Given the description of an element on the screen output the (x, y) to click on. 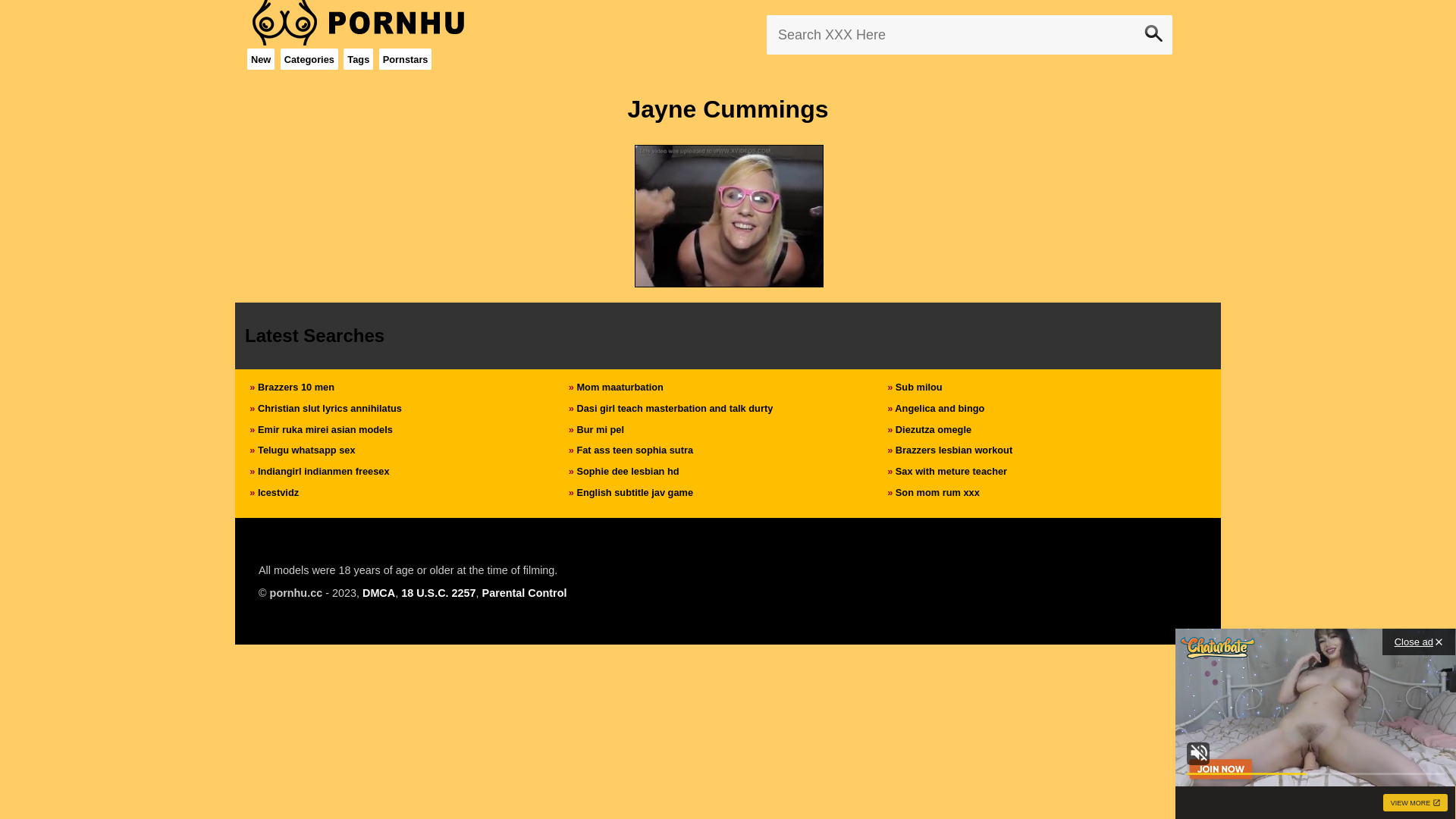
pornhu.cc Element type: text (296, 592)
Sophie dee lesbian hd Element type: text (627, 470)
Mom maaturbation Element type: text (619, 386)
18 U.S.C. 2257 Element type: text (438, 592)
Telugu whatsapp sex Element type: text (305, 449)
Emir ruka mirei asian models Element type: text (324, 429)
Indiangirl indianmen freesex Element type: text (323, 470)
DMCA Element type: text (378, 592)
Sax with meture teacher Element type: text (951, 470)
Icestvidz Element type: text (277, 492)
Angelica and bingo Element type: text (939, 408)
Parental Control Element type: text (524, 592)
Son mom rum xxx Element type: text (937, 492)
New Element type: text (260, 59)
Christian slut lyrics annihilatus Element type: text (329, 408)
Brazzers 10 men Element type: text (295, 386)
Brazzers lesbian workout Element type: text (953, 449)
Sub milou Element type: text (918, 386)
Dasi girl teach masterbation and talk durty Element type: text (674, 408)
Bur mi pel Element type: text (600, 429)
Fat ass teen sophia sutra Element type: text (634, 449)
English subtitle jav game Element type: text (634, 492)
Categories Element type: text (309, 59)
Pornstars Element type: text (405, 59)
Diezutza omegle Element type: text (933, 429)
Tags Element type: text (358, 59)
